Given the description of an element on the screen output the (x, y) to click on. 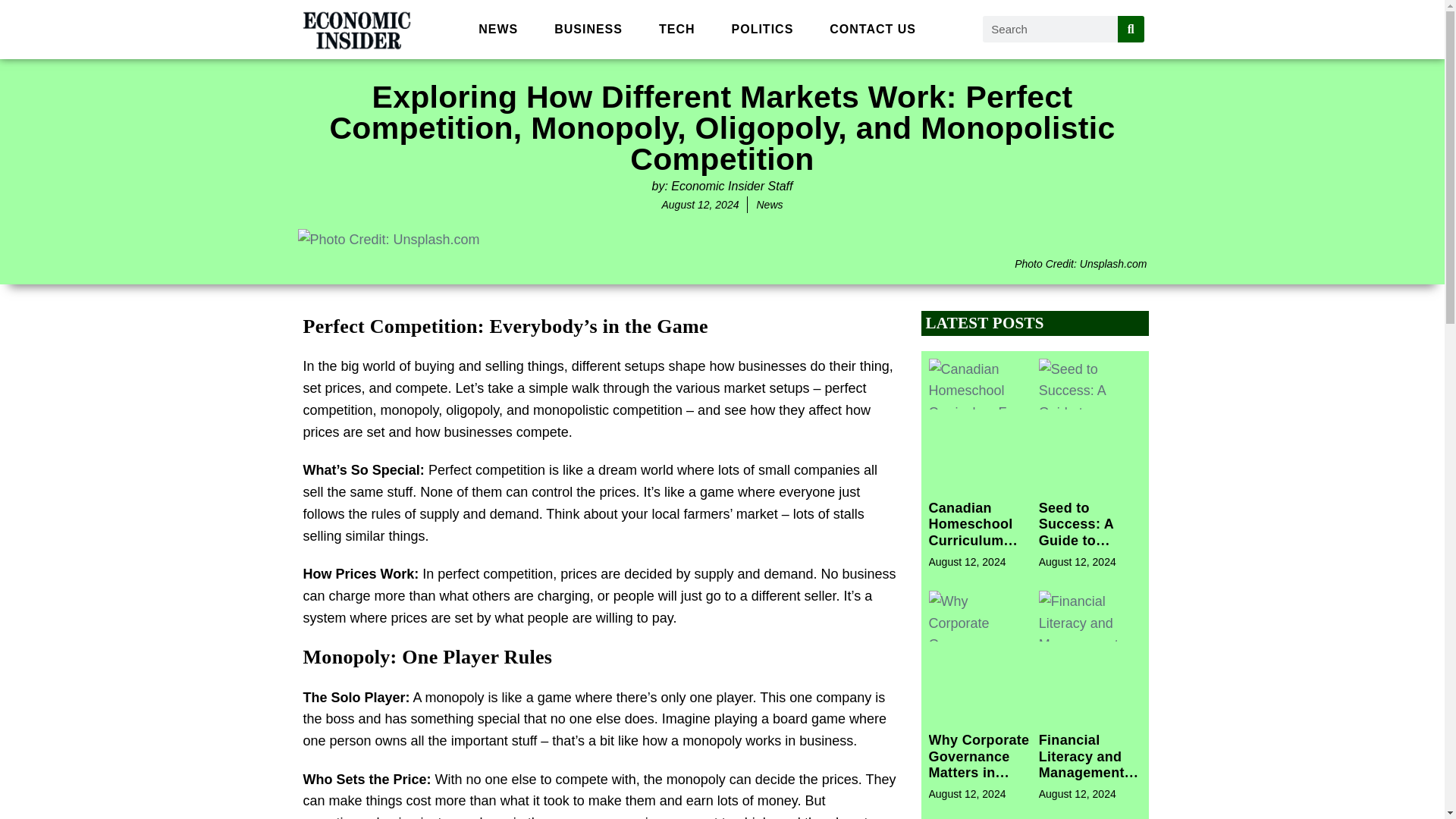
NEWS (497, 29)
CONTACT US (872, 29)
TECH (676, 29)
by: Economic Insider Staff (722, 185)
working-unsplash26 (388, 239)
BUSINESS (587, 29)
August 12, 2024 (699, 204)
POLITICS (762, 29)
News (769, 204)
